Given the description of an element on the screen output the (x, y) to click on. 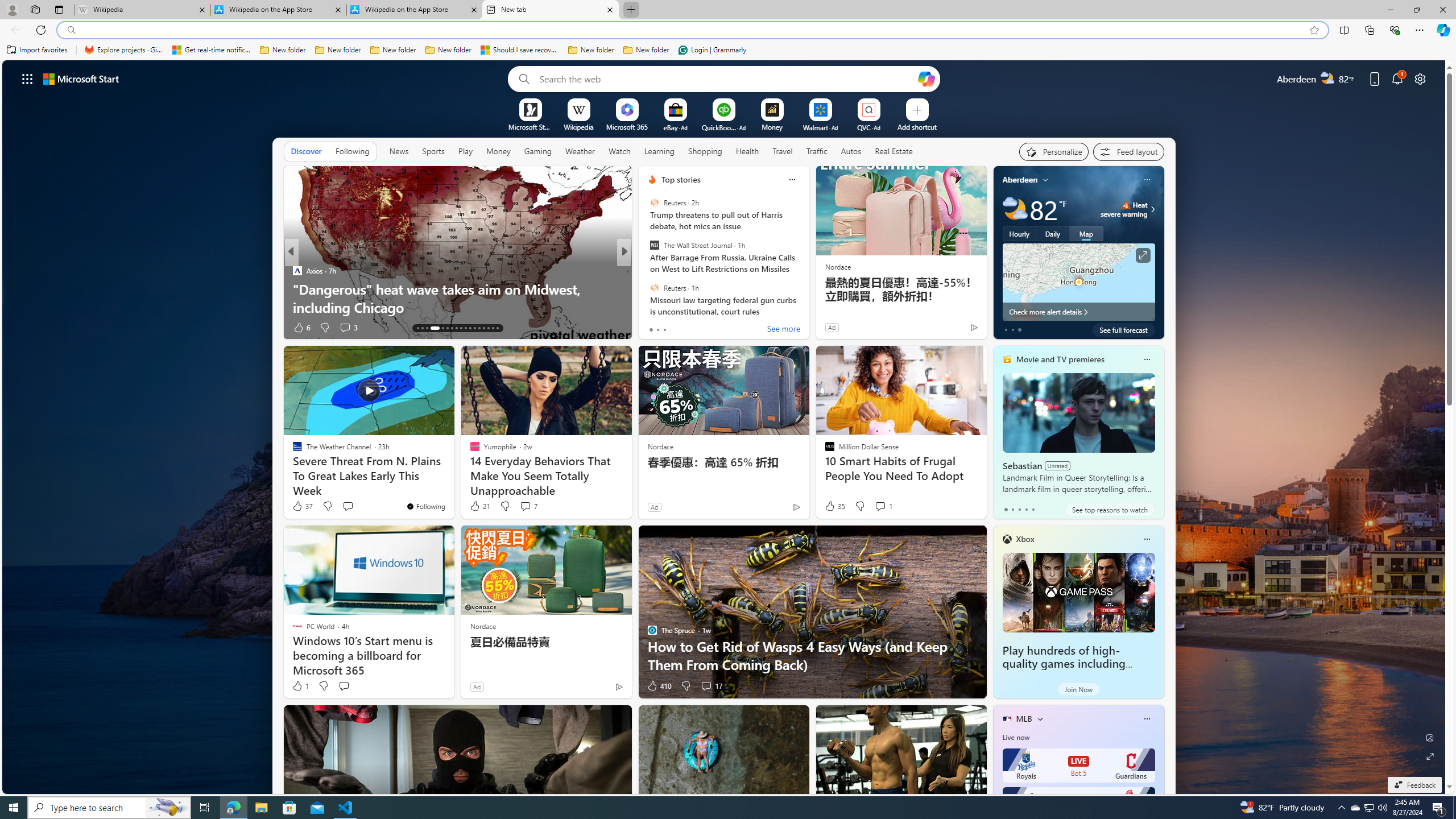
View comments 17 Comment (705, 685)
AutomationID: tab-22 (465, 328)
100 Like (654, 327)
Everything You Should Know to Permanently Block a Website (807, 298)
tab-3 (1025, 509)
